Given the description of an element on the screen output the (x, y) to click on. 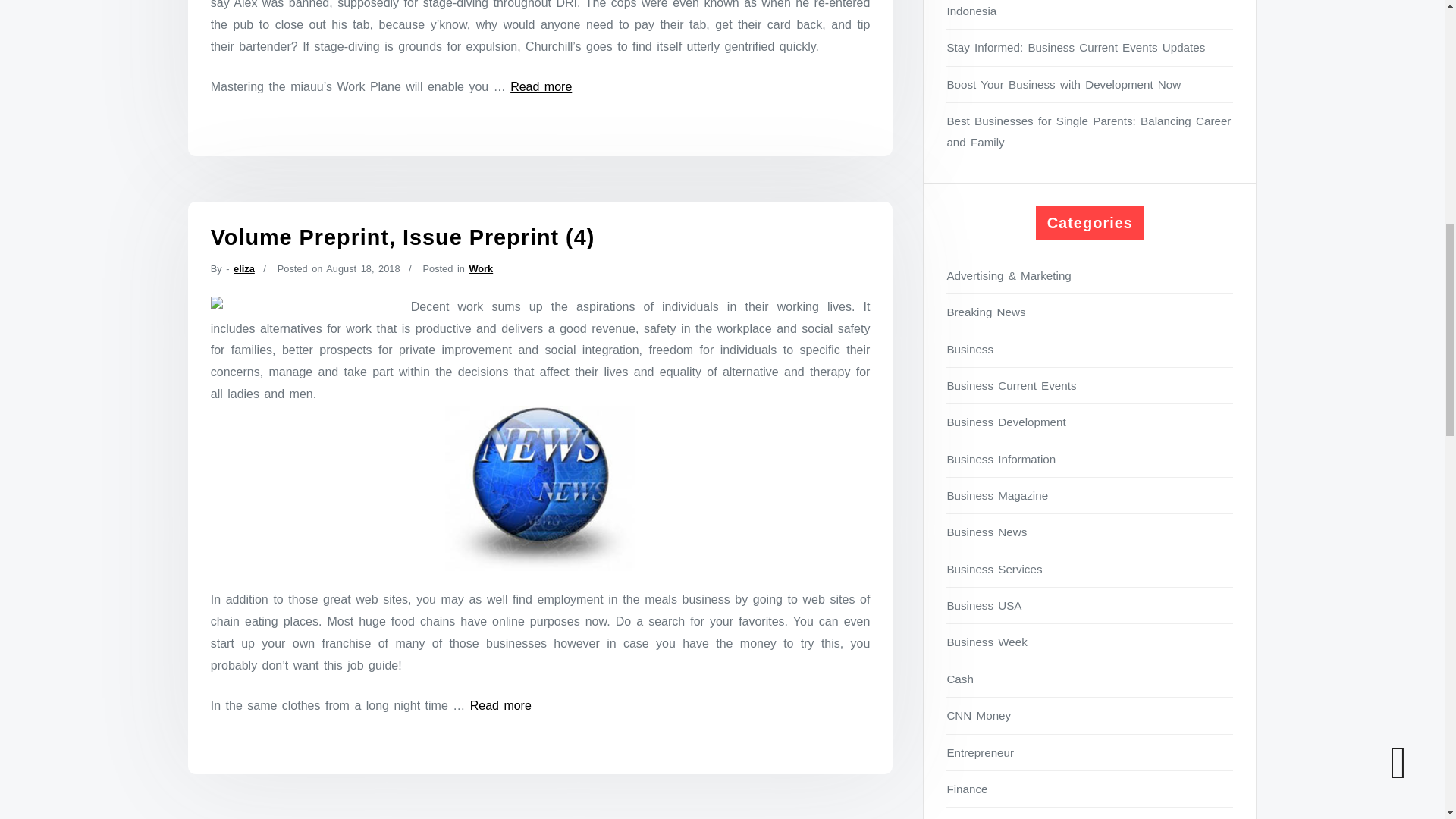
eliza (243, 268)
Work (480, 268)
Boost Your Business with Development Now (1089, 84)
Read more (541, 86)
Stay Informed: Business Current Events Updates (1089, 46)
The State and Evolution of Industrial Pharmacy in Indonesia (1089, 11)
Read more (500, 705)
